Given the description of an element on the screen output the (x, y) to click on. 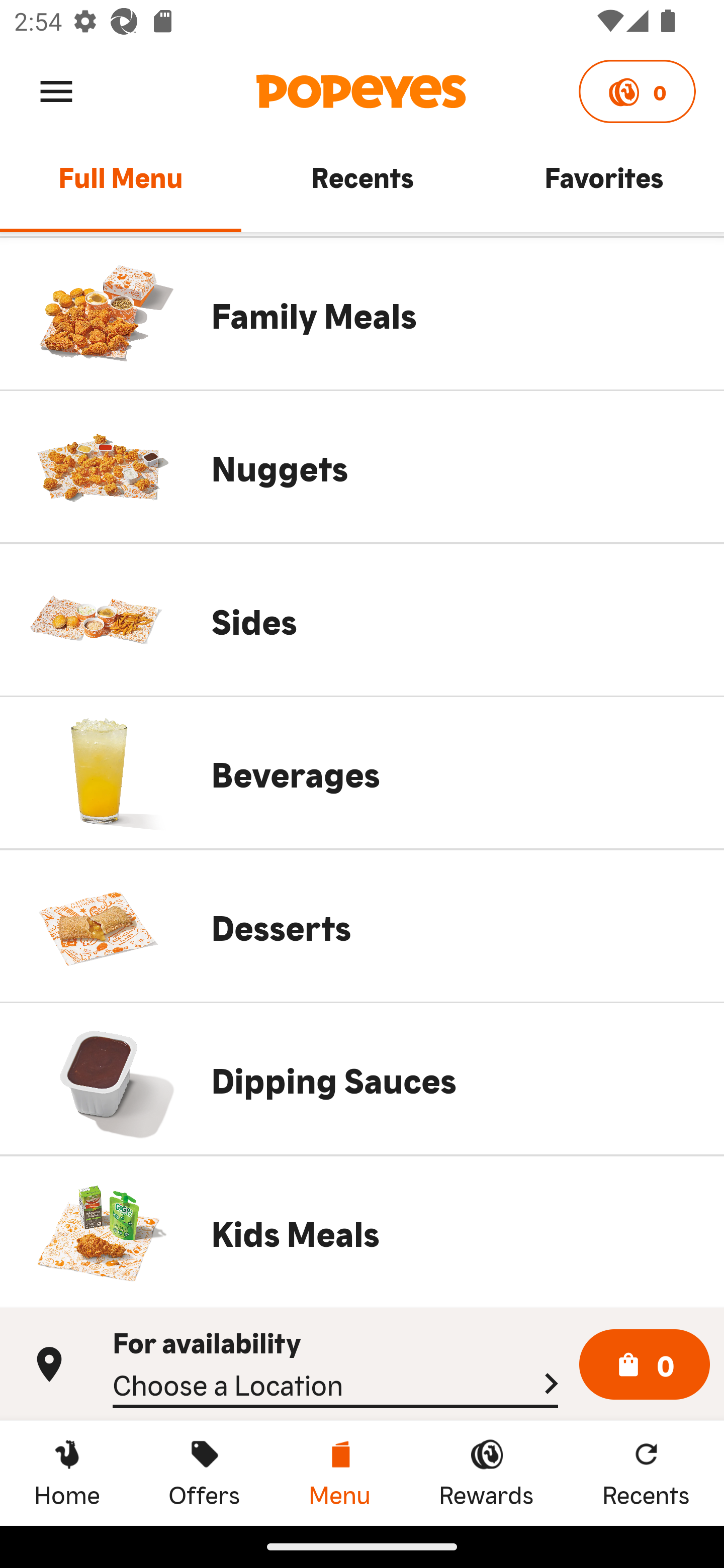
Menu  (56, 90)
0 Points 0 (636, 91)
Full Menu (120, 186)
Recents (361, 186)
Favorites (603, 186)
Nuggets, Nuggets Nuggets Nuggets (362, 466)
sauces, Dipping Sauces sauces Dipping Sauces (362, 1078)
Kids Meals, Kids Meals Kids Meals Kids Meals (362, 1232)
0 Cart total  0 (644, 1364)
Home Home Home (66, 1472)
Offers Offers Offers (203, 1472)
Menu, current page Menu Menu, current page (339, 1472)
Rewards Rewards Rewards (486, 1472)
Recents Recents Recents (646, 1472)
